Given the description of an element on the screen output the (x, y) to click on. 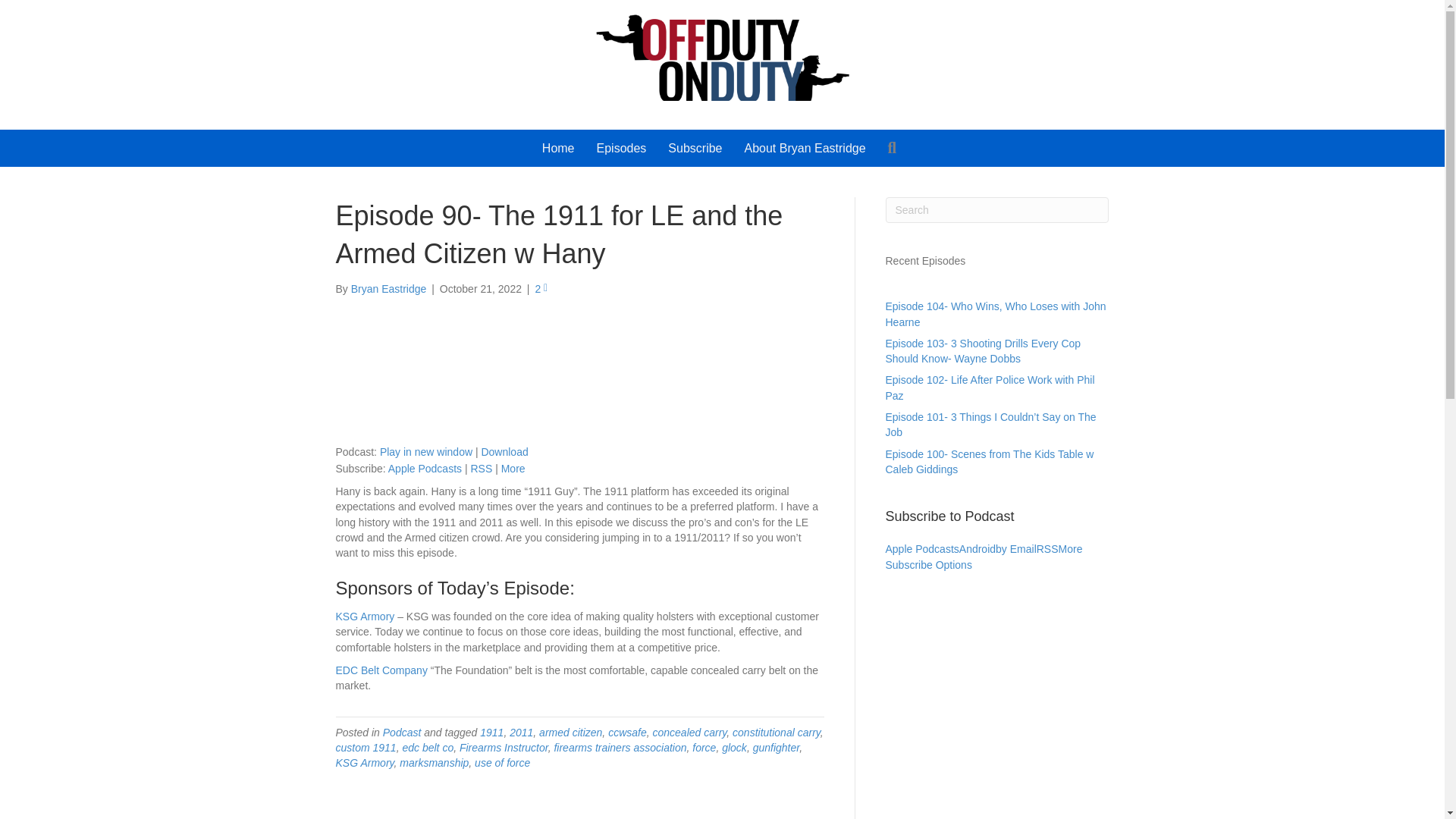
1911 (491, 732)
Subscribe via RSS (481, 468)
edc belt co (426, 747)
armed citizen (570, 732)
Episodes (622, 148)
use of force (501, 762)
Download (503, 451)
custom 1911 (365, 747)
Search (895, 148)
Play in new window (425, 451)
